Given the description of an element on the screen output the (x, y) to click on. 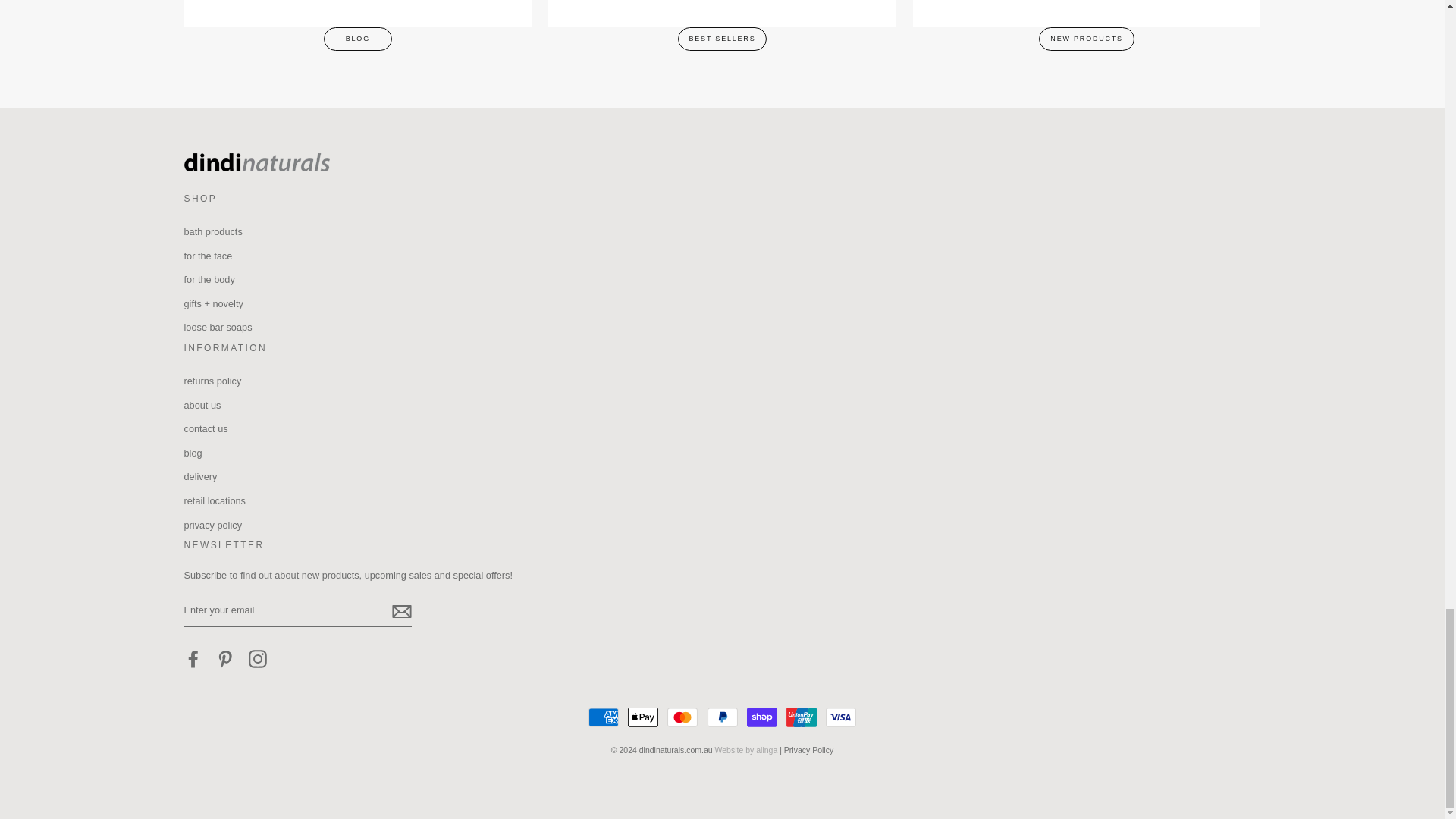
dindinaturals.com.au on Pinterest (224, 659)
Mastercard (681, 716)
American Express (603, 716)
PayPal (721, 716)
Shop Pay (761, 716)
dindinaturals.com.au on Instagram (257, 659)
dindinaturals.com.au on Facebook (192, 659)
Apple Pay (642, 716)
